Given the description of an element on the screen output the (x, y) to click on. 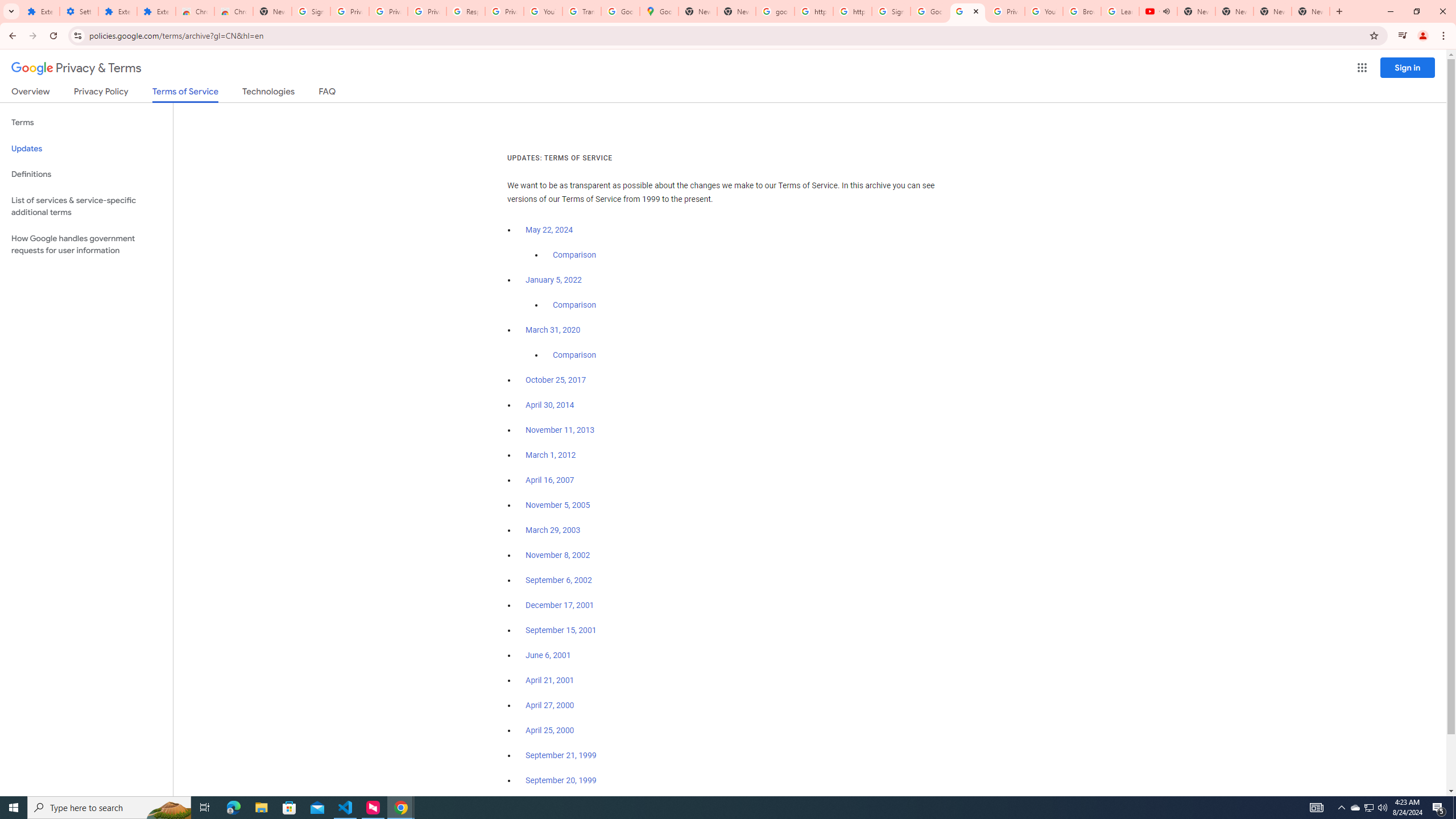
March 1, 2012 (550, 455)
FAQ (327, 93)
March 31, 2020 (552, 330)
